Given the description of an element on the screen output the (x, y) to click on. 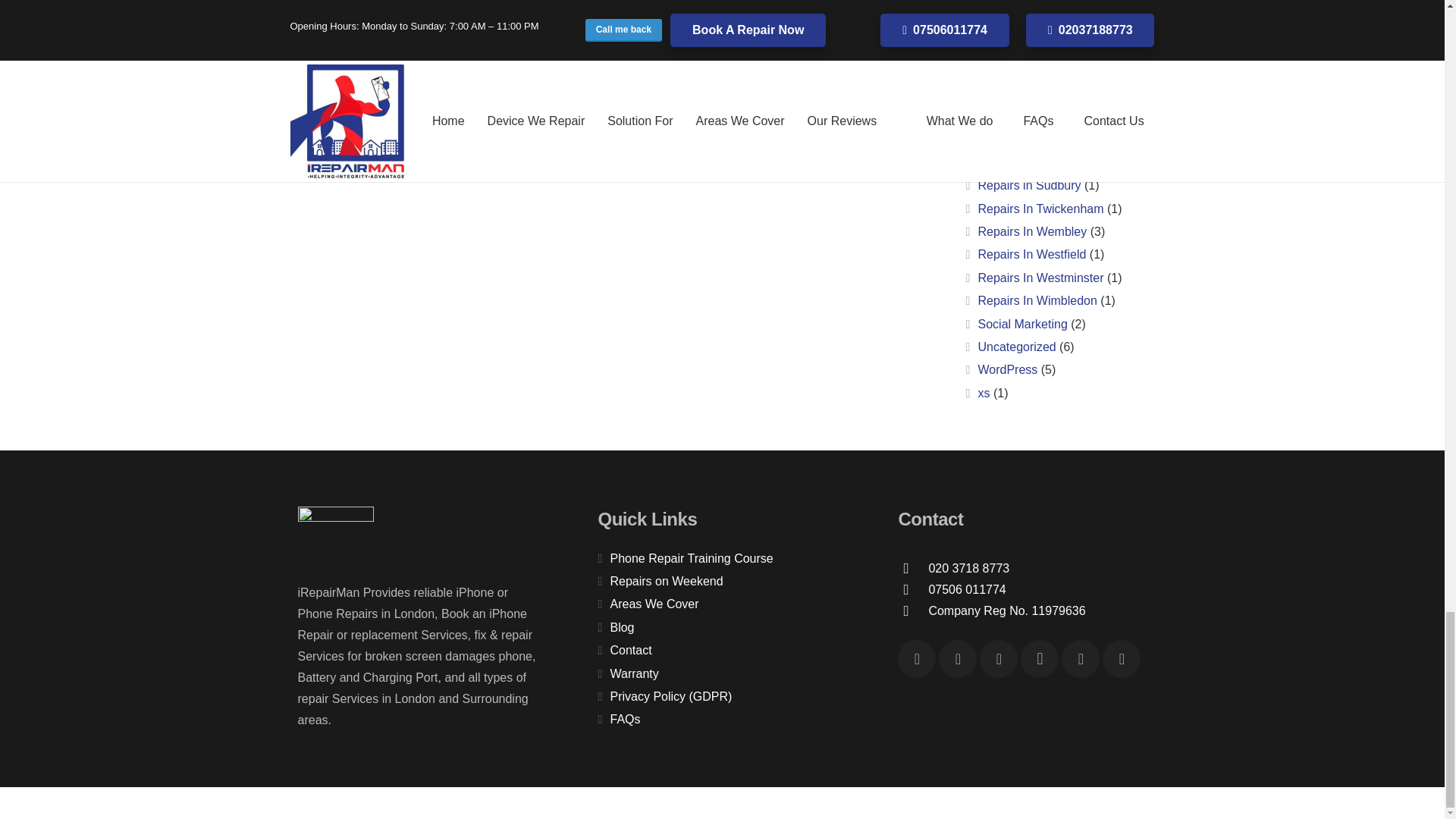
Twitter (998, 658)
500px (1121, 658)
LinkedIn (1080, 658)
Facebook (917, 658)
Instagram (1039, 658)
YouTube (957, 658)
